Given the description of an element on the screen output the (x, y) to click on. 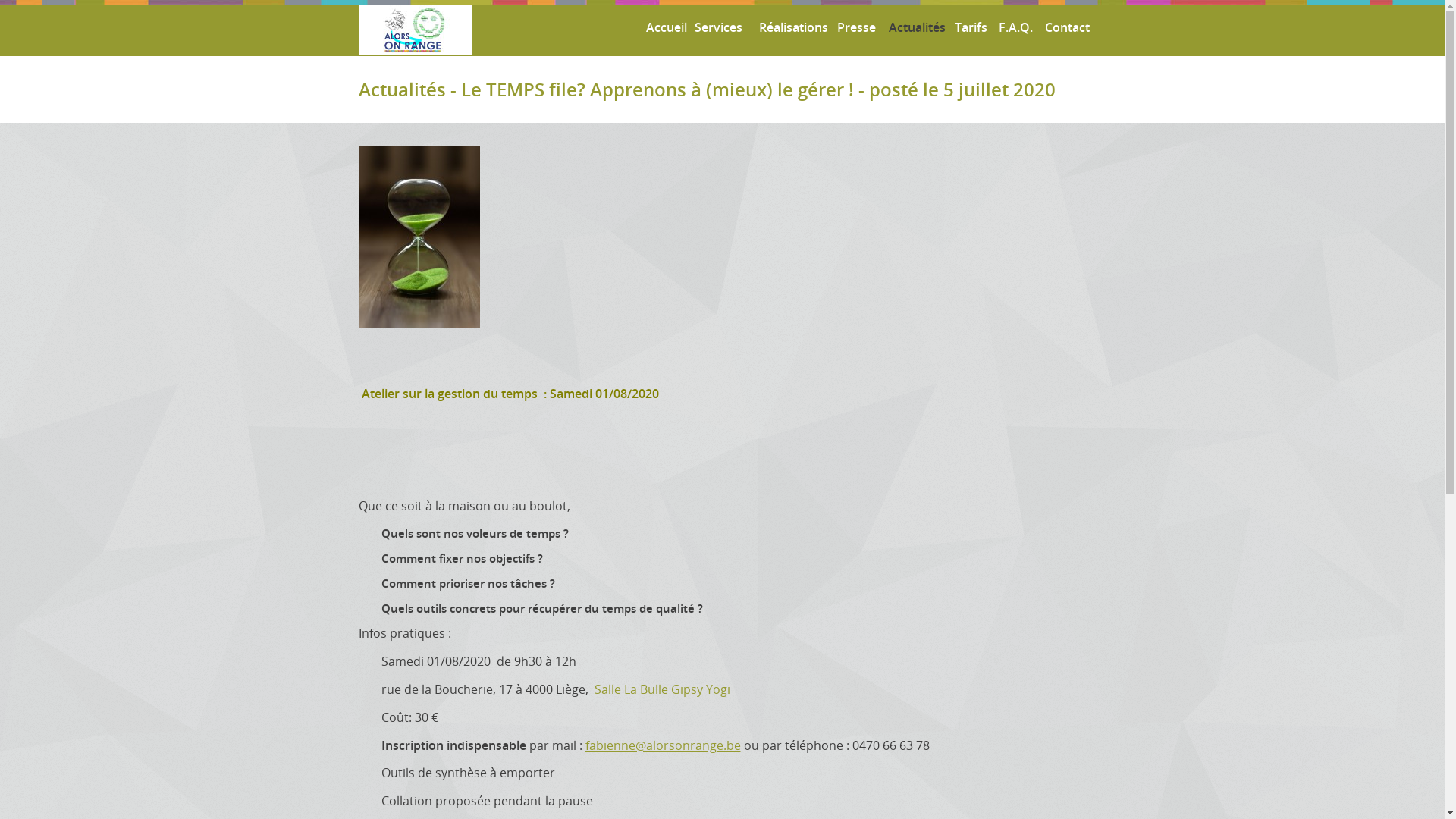
Accueil Element type: text (662, 27)
fabienne@alorsonrange.be Element type: text (662, 745)
Contact Element type: text (1063, 27)
Salle La Bulle Gipsy Yogi Element type: text (662, 688)
F.A.Q. Element type: text (1013, 27)
Tarifs Element type: text (968, 27)
Presse Element type: text (853, 27)
